Given the description of an element on the screen output the (x, y) to click on. 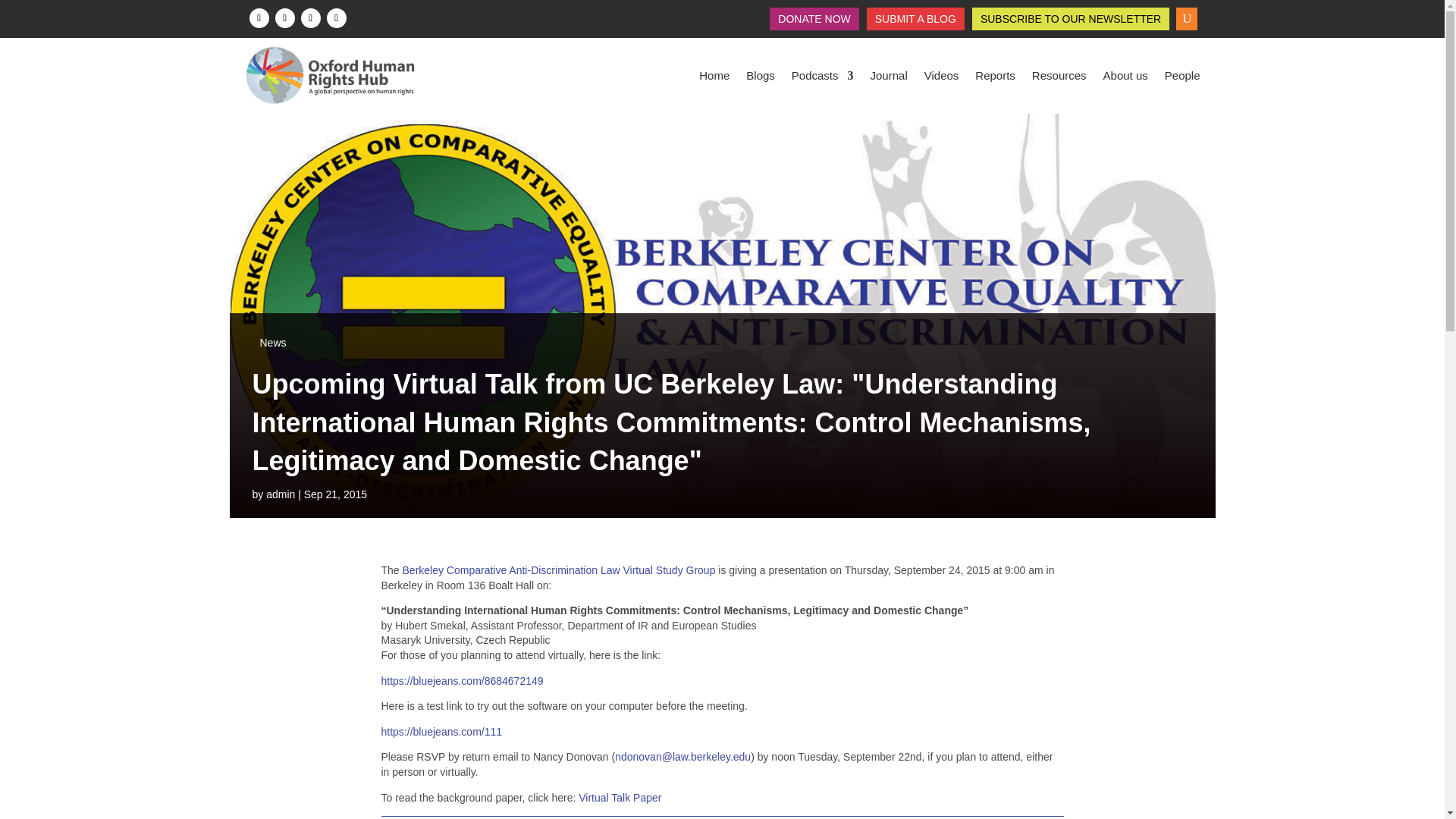
Follow on X (284, 17)
Virtual Talk Paper (619, 797)
SUBSCRIBE TO OUR NEWSLETTER (1069, 21)
DONATE NOW (813, 21)
Journal (888, 75)
Follow on Flickr (336, 17)
Home (713, 75)
SUBMIT A BLOG (915, 21)
Videos (941, 75)
